Given the description of an element on the screen output the (x, y) to click on. 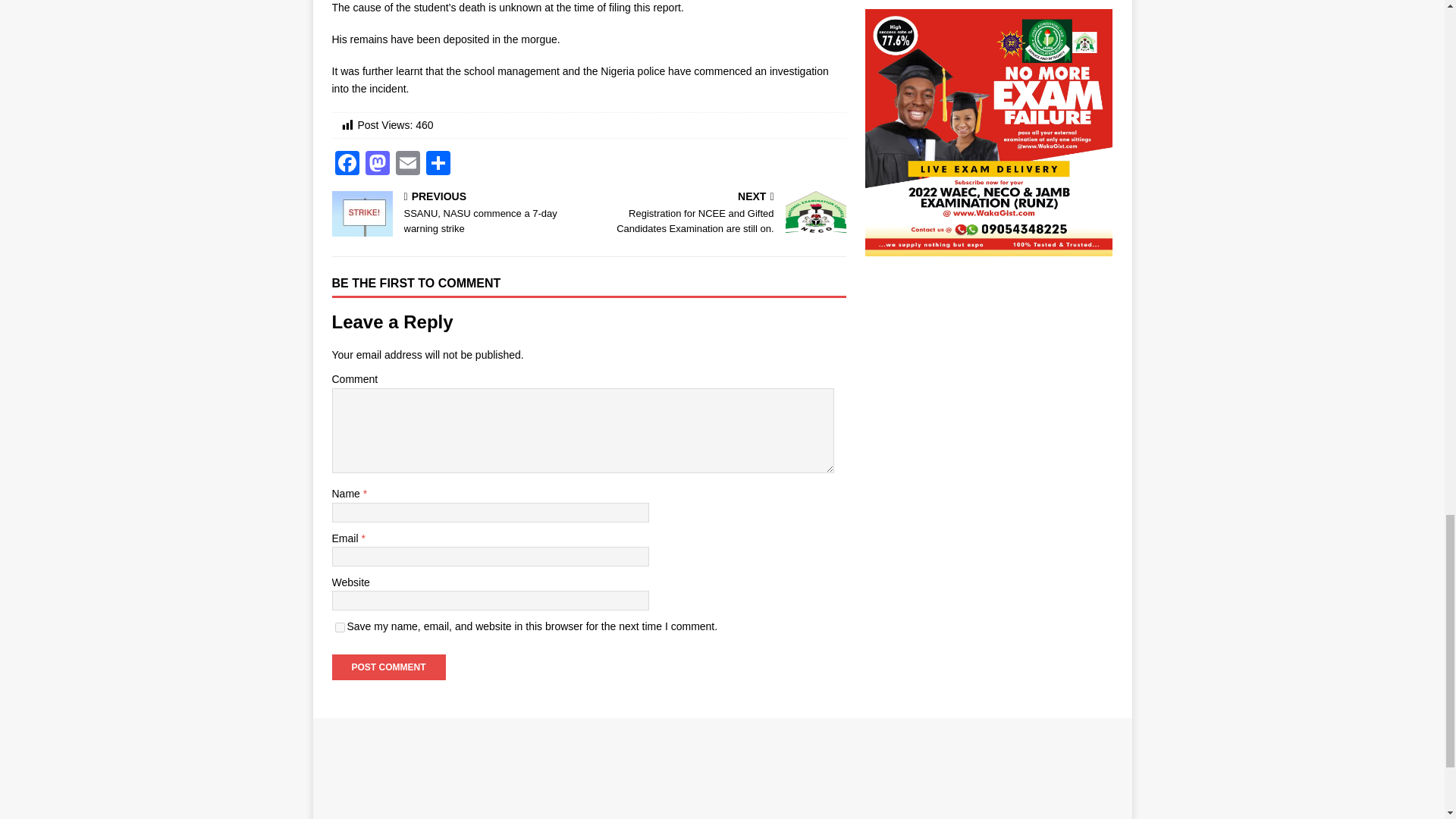
Post Comment (388, 667)
Post Comment (388, 667)
yes (339, 627)
Facebook (346, 164)
Email (408, 164)
Mastodon (457, 214)
